Given the description of an element on the screen output the (x, y) to click on. 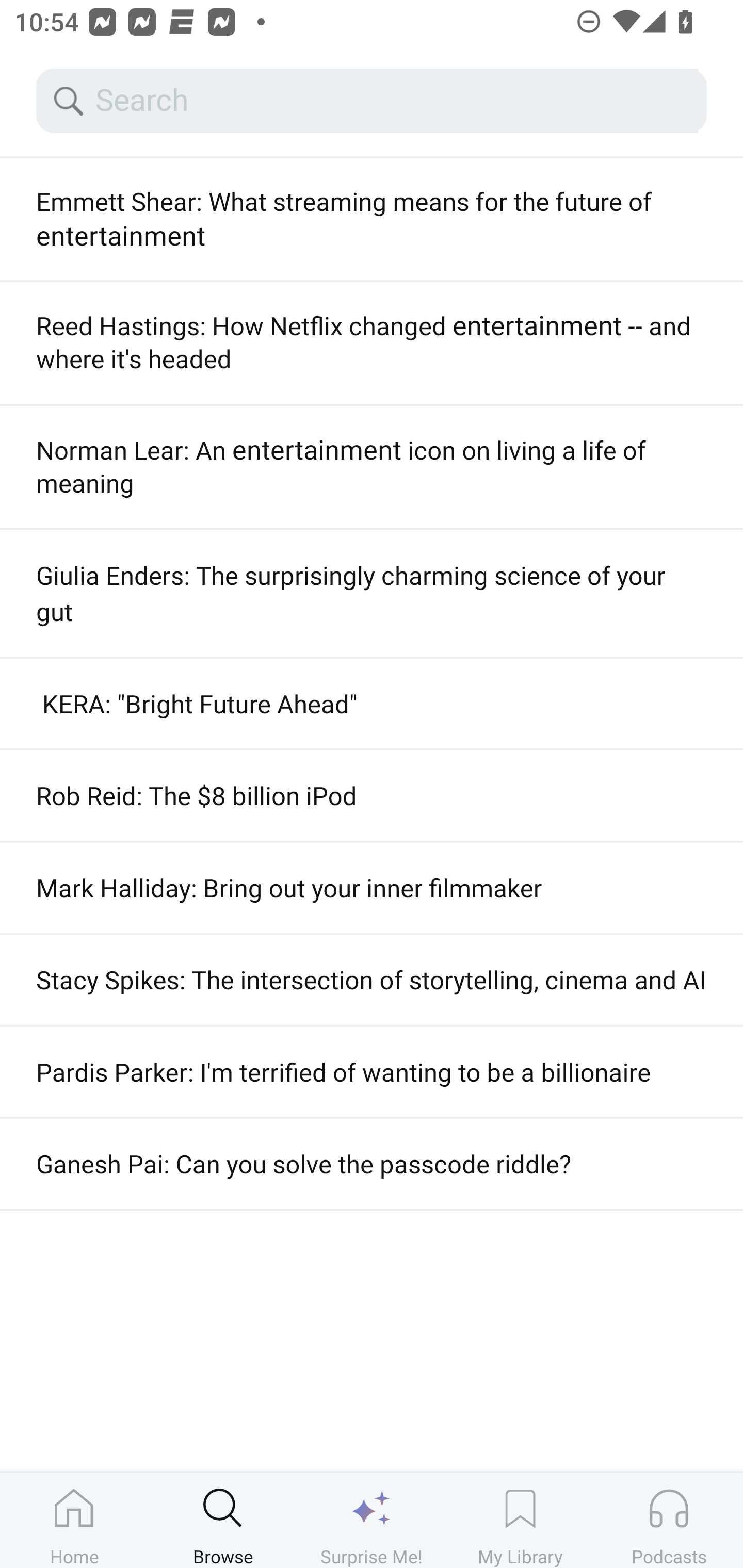
Search (395, 100)
 KERA: "Bright Future Ahead" (371, 703)
Rob Reid: The $8 billion iPod (371, 795)
Mark Halliday: Bring out your inner filmmaker (371, 887)
Ganesh Pai: Can you solve the passcode riddle? (371, 1162)
Home (74, 1520)
Browse (222, 1520)
Surprise Me! (371, 1520)
My Library (519, 1520)
Podcasts (668, 1520)
